Given the description of an element on the screen output the (x, y) to click on. 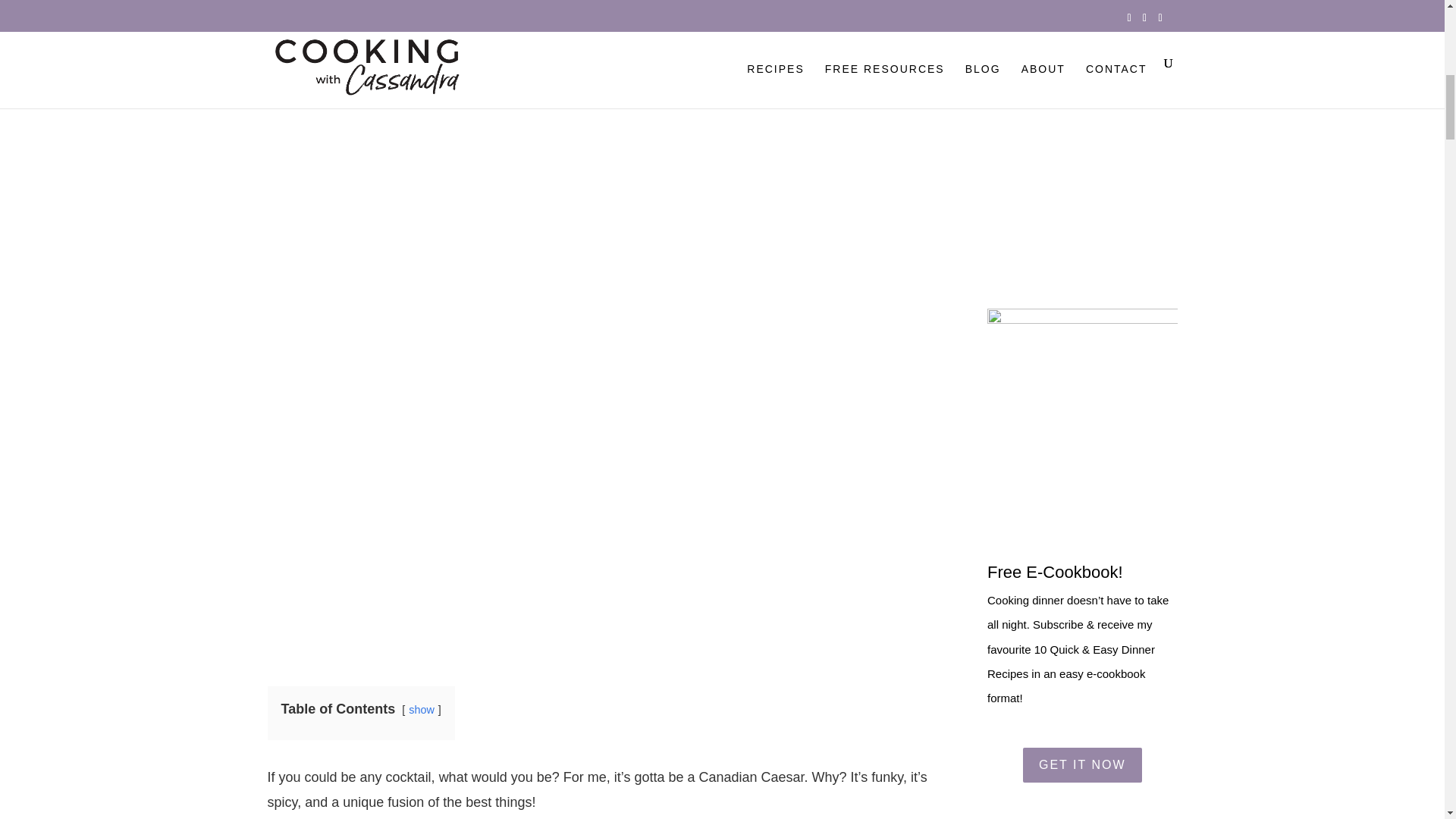
GET IT NOW (1082, 764)
show (421, 709)
